Given the description of an element on the screen output the (x, y) to click on. 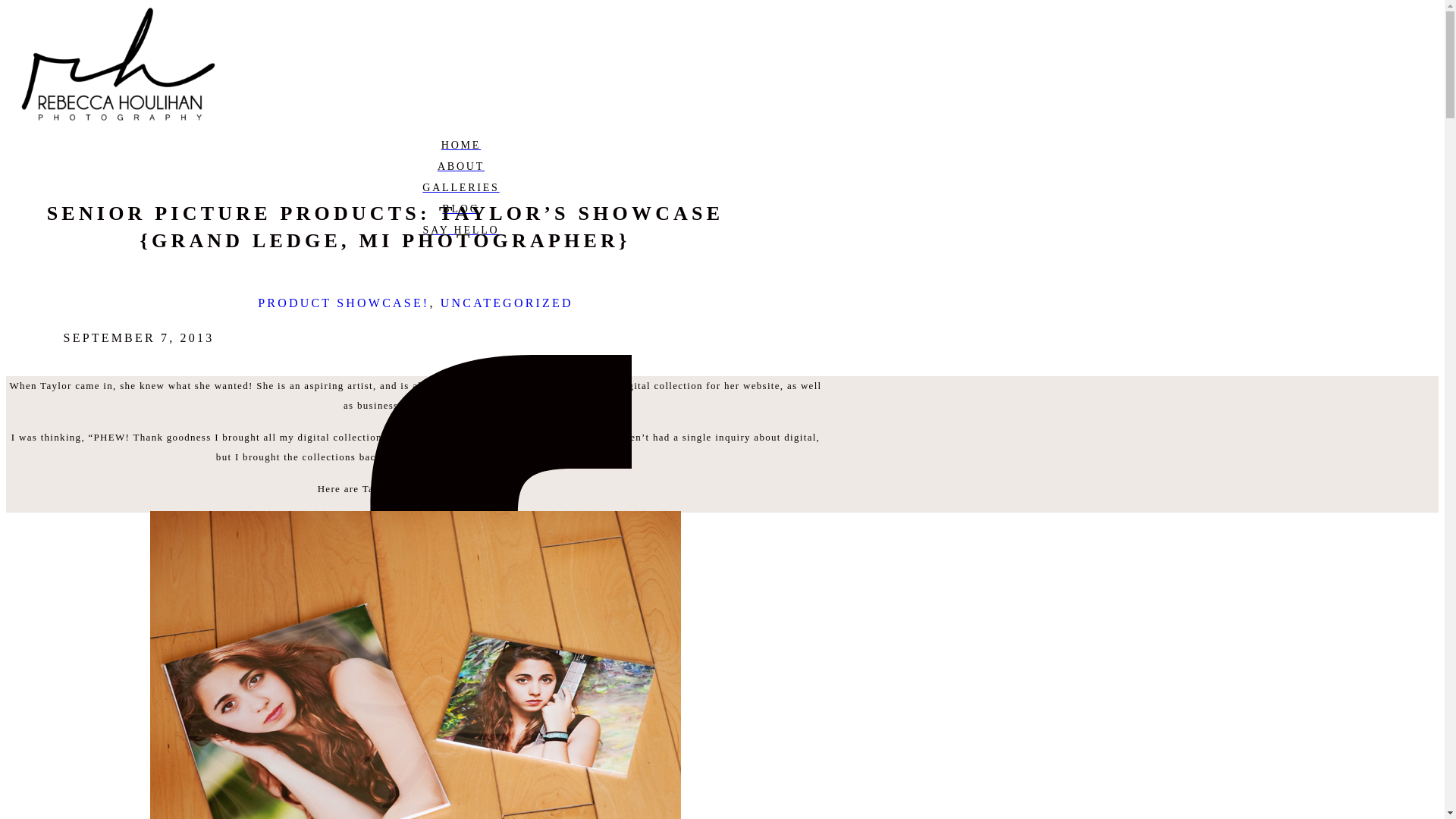
GALLERIES (460, 188)
ABOUT (460, 166)
UNCATEGORIZED (507, 302)
PRODUCT SHOWCASE! (343, 302)
HOME (460, 145)
BLOG (460, 209)
SAY HELLO (460, 230)
